Given the description of an element on the screen output the (x, y) to click on. 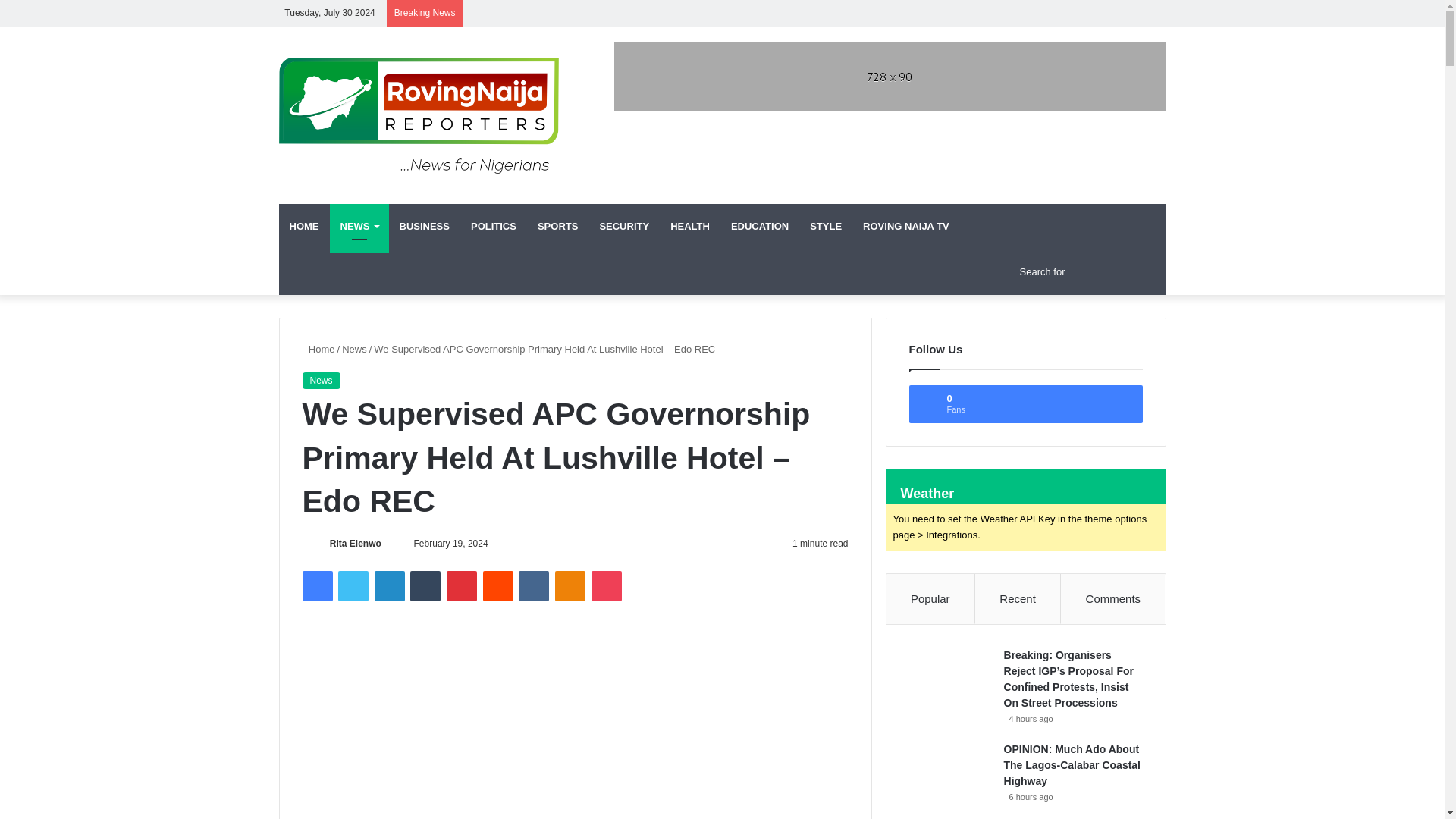
Twitter (352, 585)
NEWS (358, 226)
HEALTH (689, 226)
Odnoklassniki (569, 585)
News (320, 380)
Pinterest (461, 585)
LinkedIn (389, 585)
Facebook (316, 585)
VKontakte (533, 585)
STYLE (825, 226)
SECURITY (623, 226)
HOME (304, 226)
BUSINESS (424, 226)
News (354, 348)
Roving Naija (419, 115)
